Given the description of an element on the screen output the (x, y) to click on. 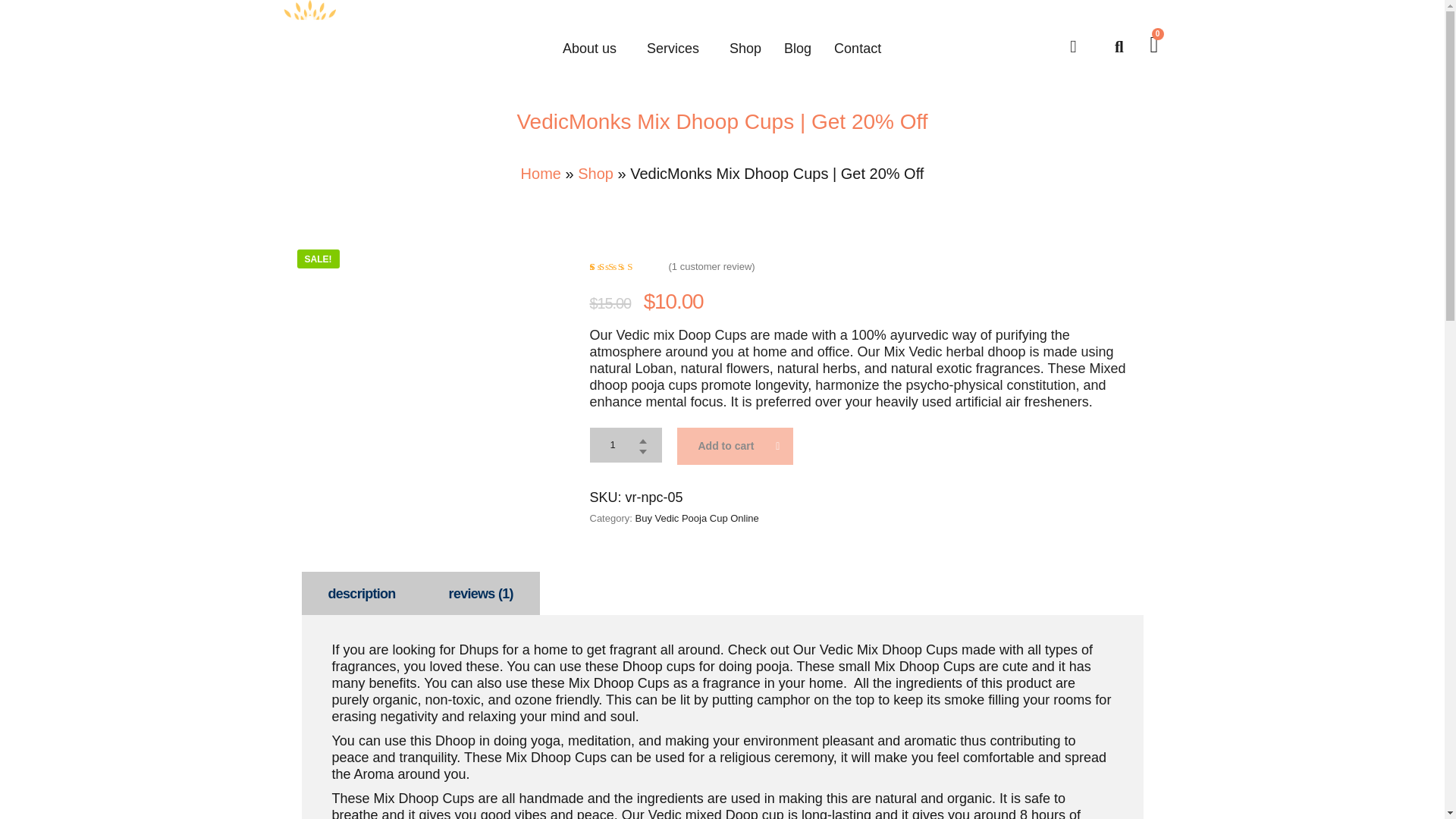
About us (592, 48)
Services (675, 48)
Blog (797, 48)
1 (625, 444)
Contact (857, 48)
Qty (625, 444)
Shop (745, 48)
